Given the description of an element on the screen output the (x, y) to click on. 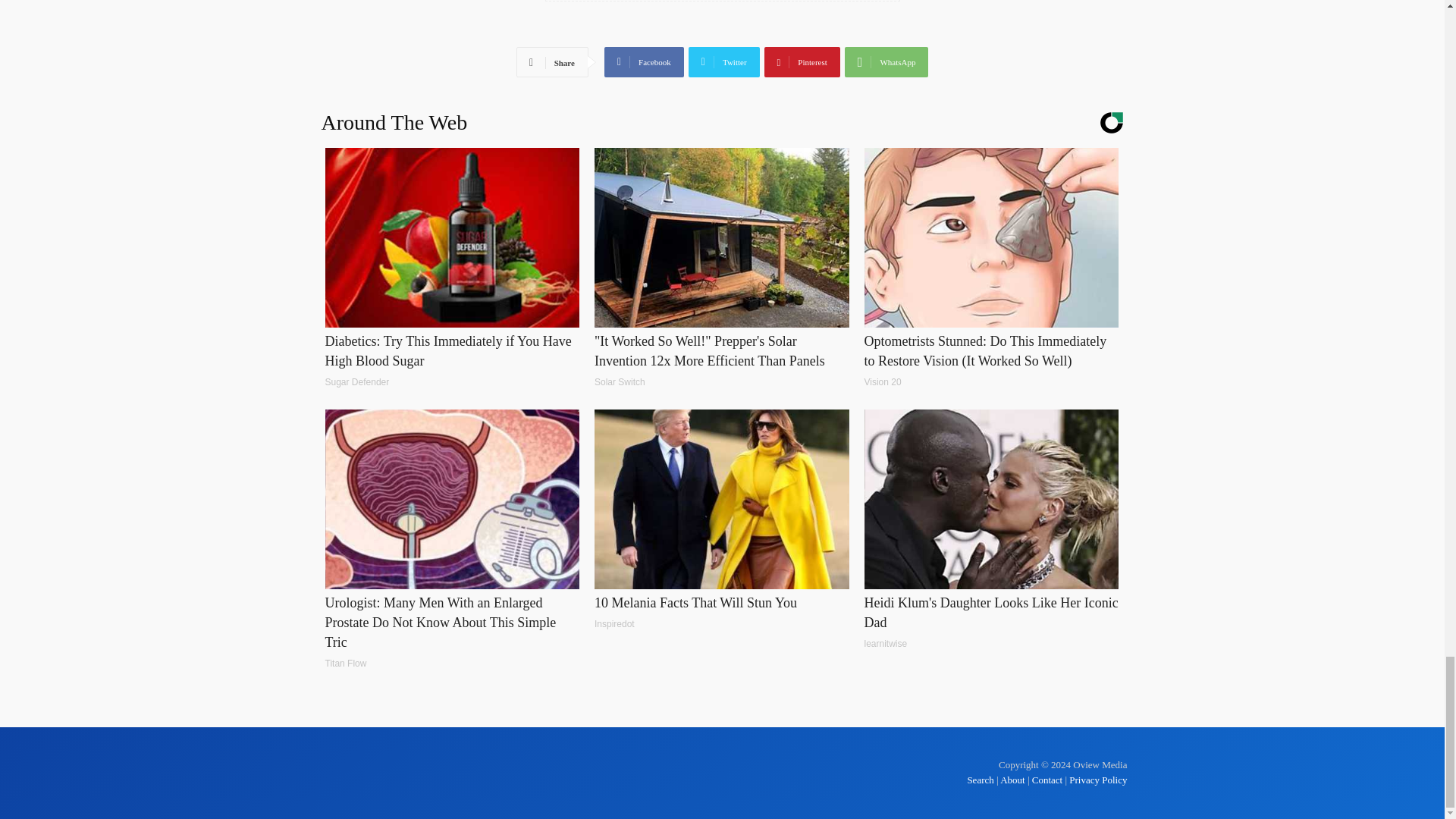
Pinterest (802, 61)
WhatsApp (886, 61)
Facebook (644, 61)
Twitter (724, 61)
